Given the description of an element on the screen output the (x, y) to click on. 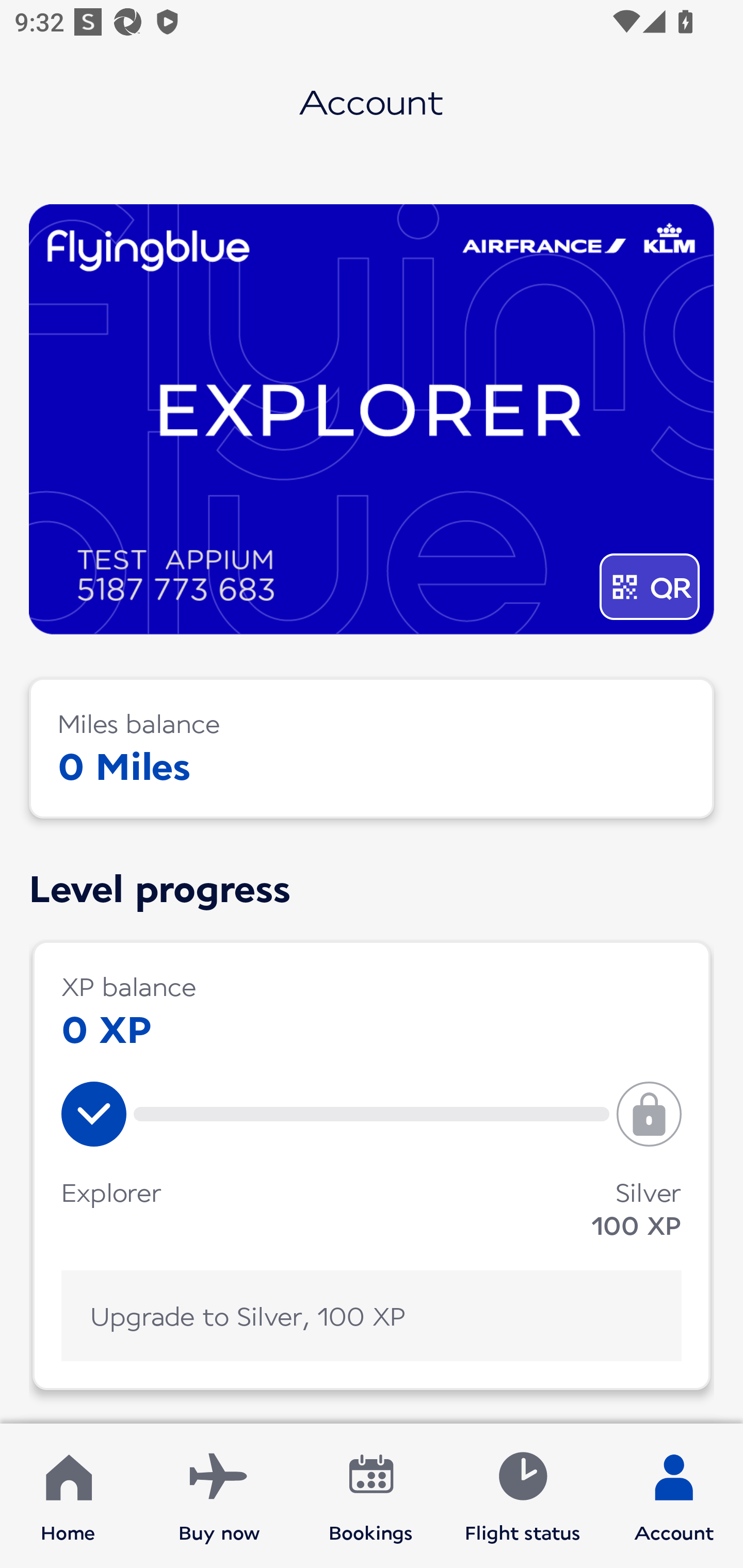
Miles balance 0 Miles (371, 747)
Home (68, 1495)
Buy now (219, 1495)
Bookings (370, 1495)
Flight status (522, 1495)
